Given the description of an element on the screen output the (x, y) to click on. 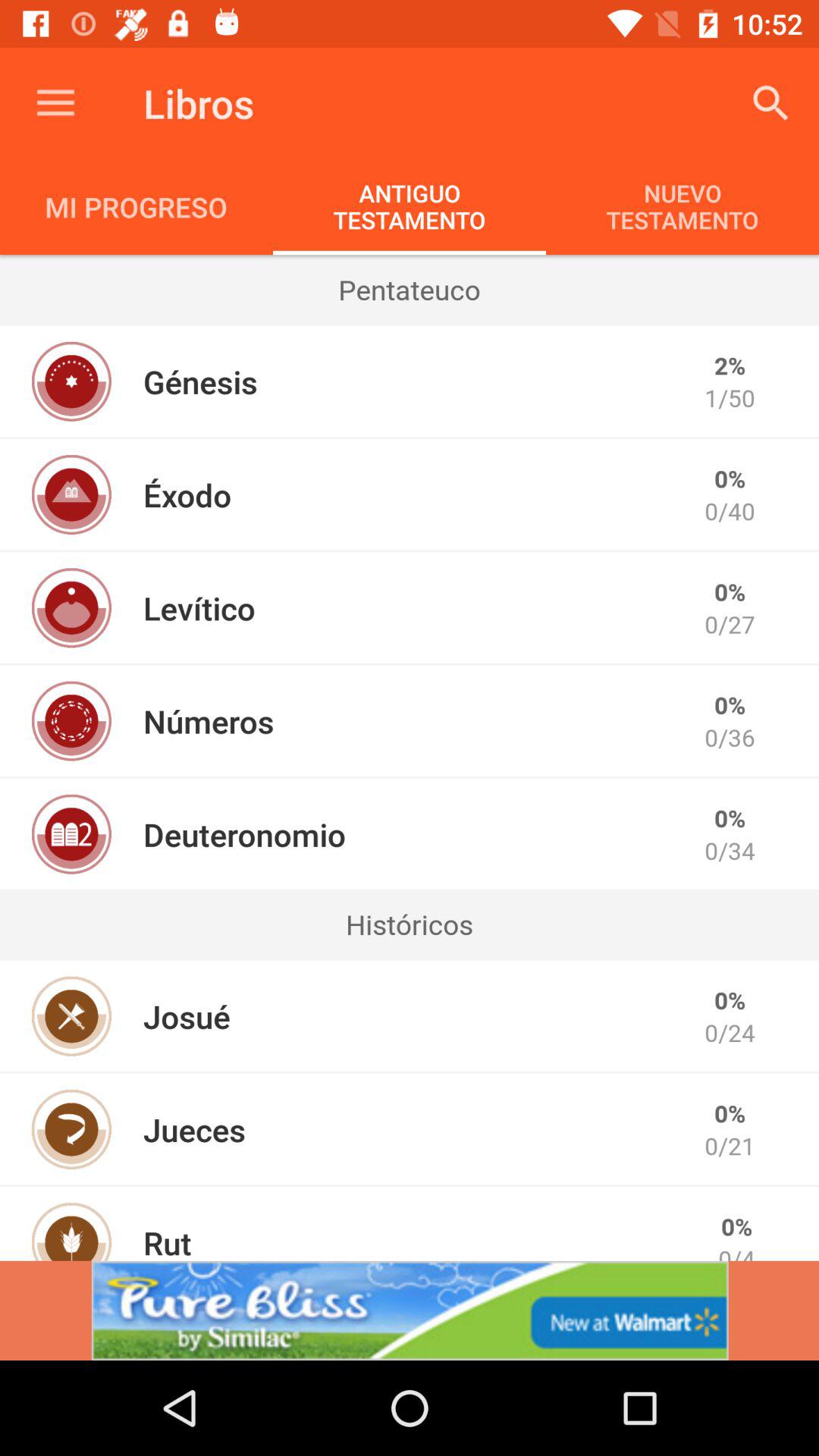
launch item to the left of the 0/40 (187, 494)
